Given the description of an element on the screen output the (x, y) to click on. 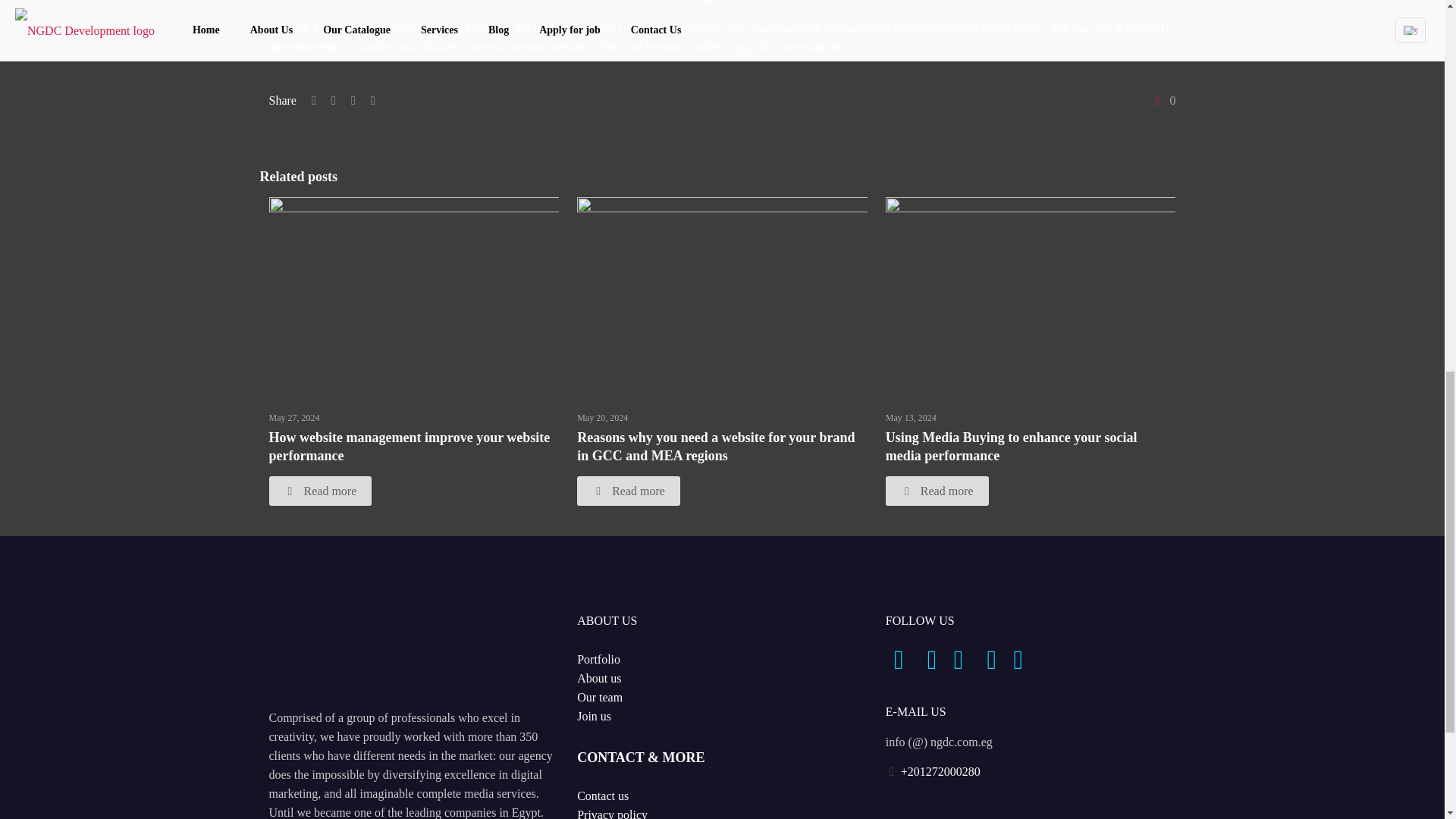
0 (1162, 99)
Read more (319, 490)
How website management improve your website performance (408, 446)
